Given the description of an element on the screen output the (x, y) to click on. 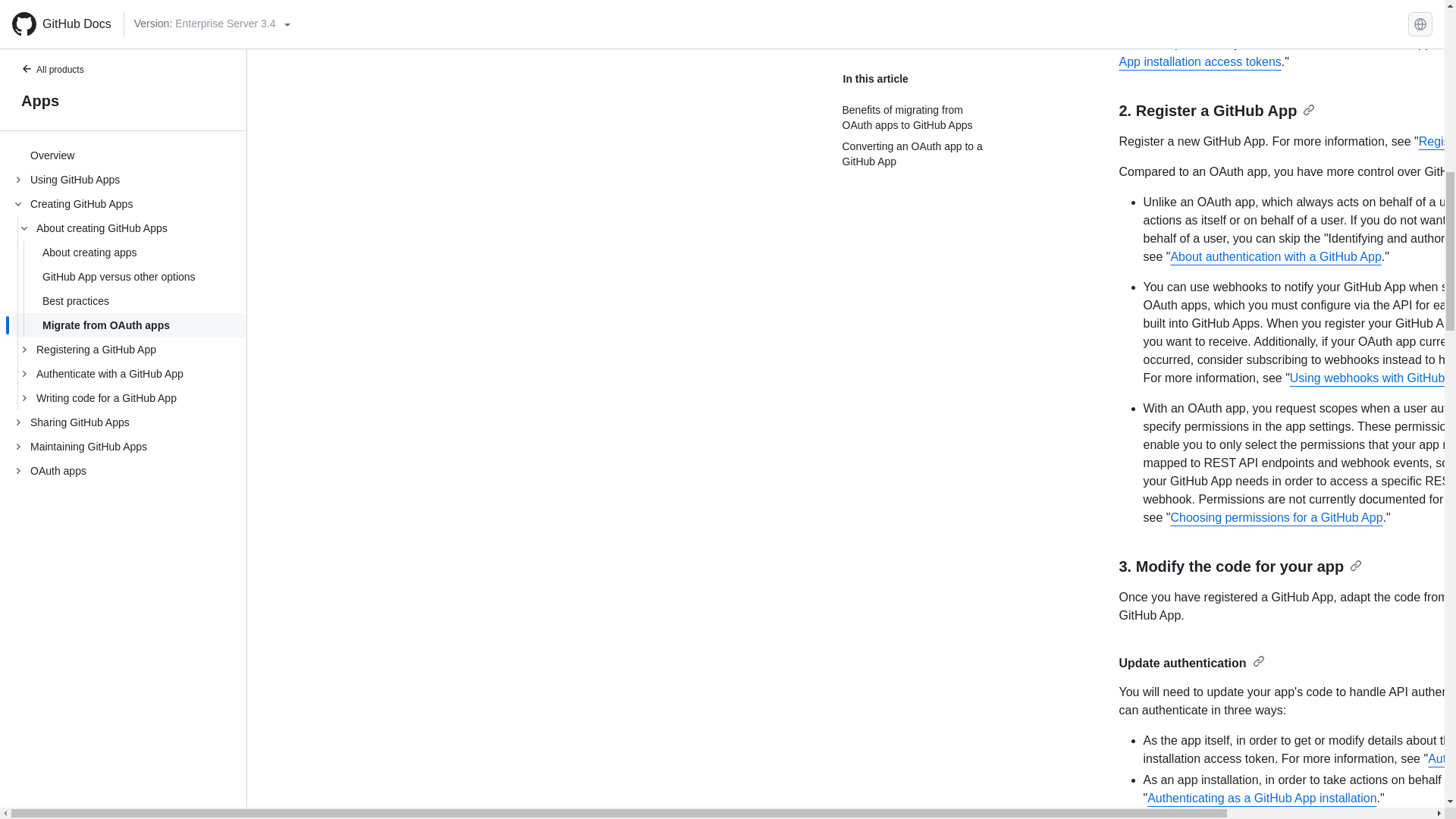
3. Modify the code for your app (1240, 565)
2. Register a GitHub App (1217, 110)
Choosing permissions for a GitHub App (1275, 517)
About authentication with a GitHub App (1275, 256)
Using webhooks with GitHub Apps (1373, 377)
Registering a GitHub App (1437, 141)
